Given the description of an element on the screen output the (x, y) to click on. 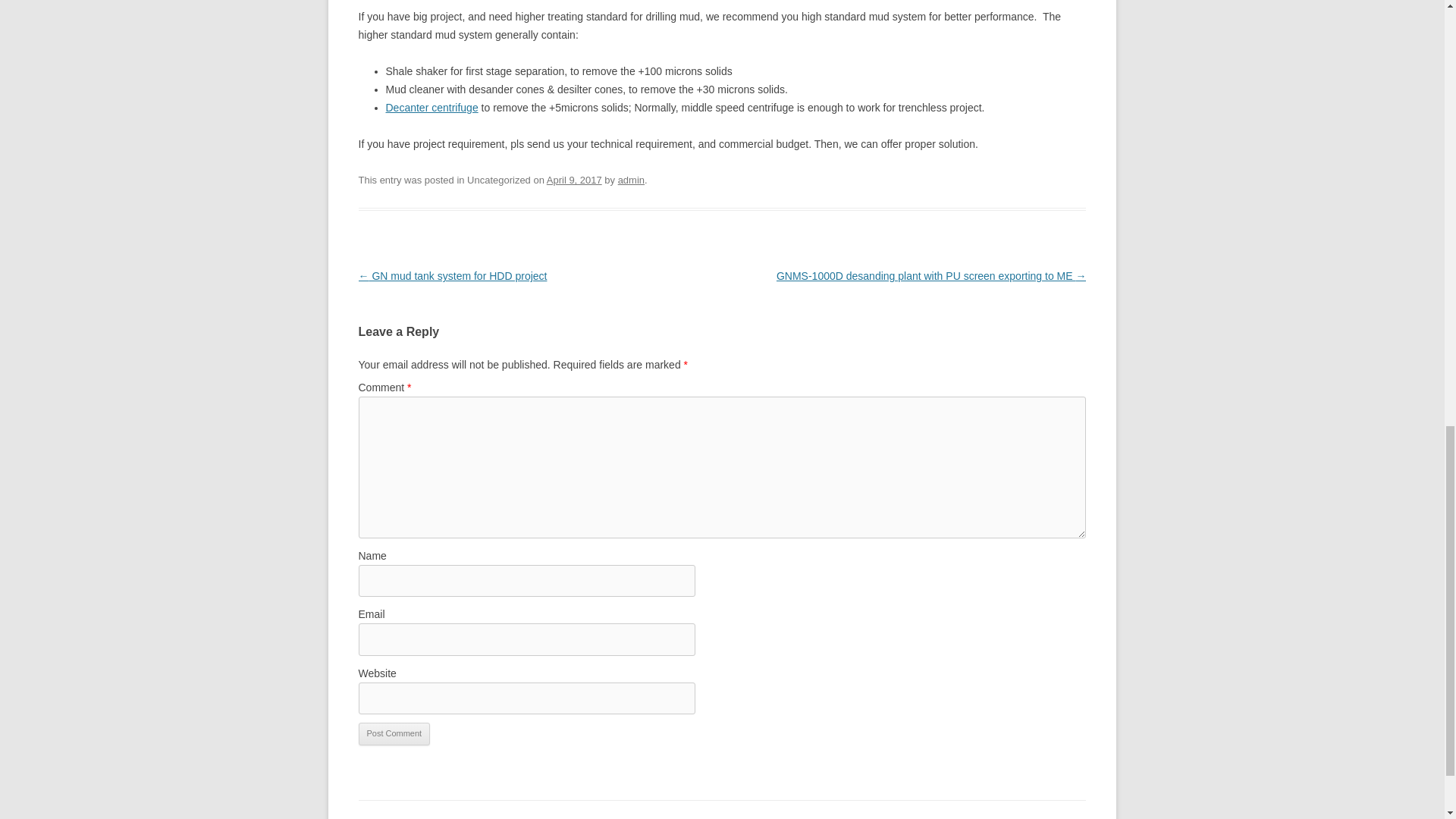
April 9, 2017 (574, 179)
12:16 am (574, 179)
Post Comment (393, 733)
View all posts by admin (631, 179)
admin (631, 179)
Decanter centrifuge (431, 107)
Post Comment (393, 733)
